Given the description of an element on the screen output the (x, y) to click on. 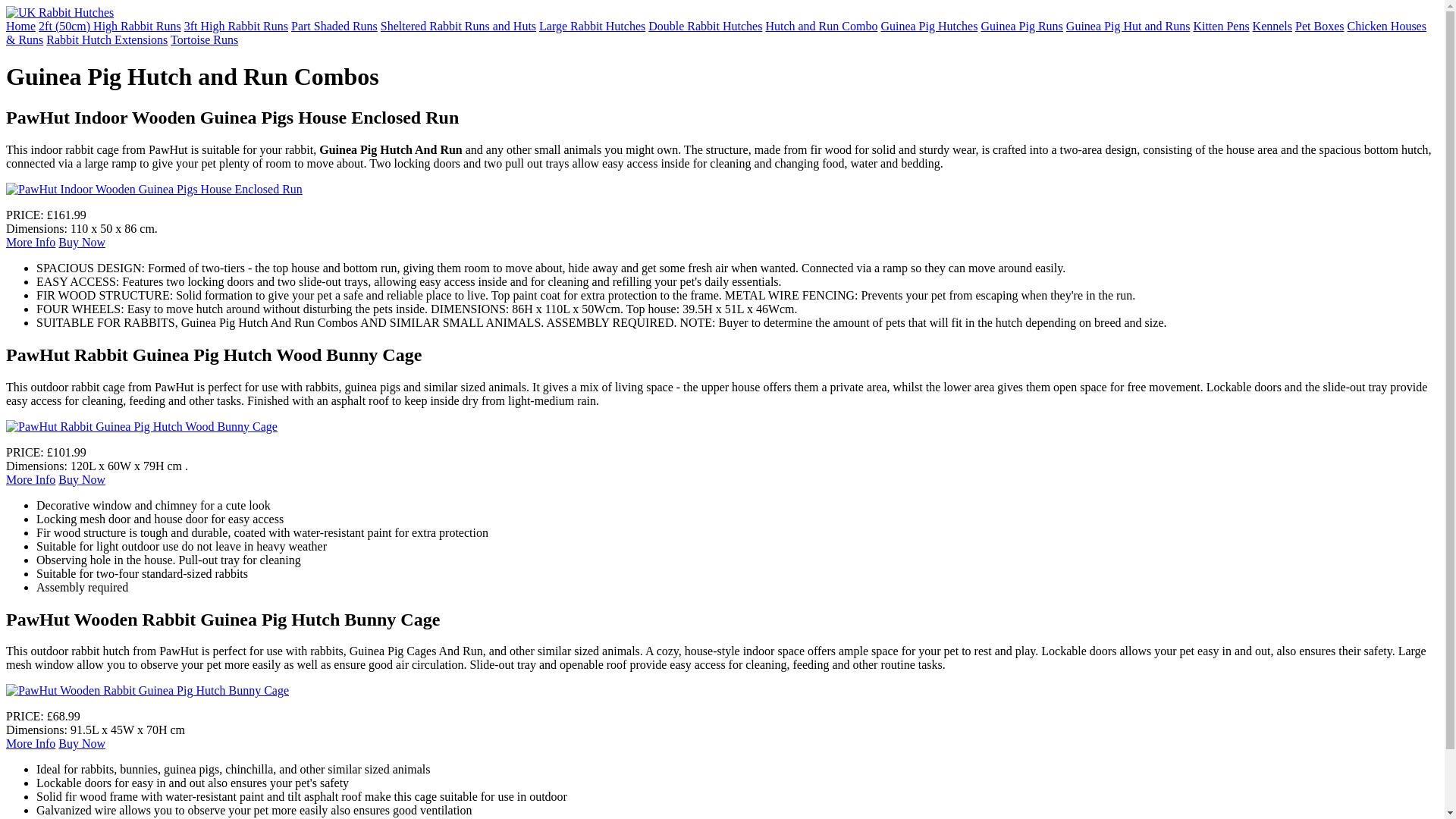
Guinea Pig Hut and Runs (1128, 25)
Part Shaded Runs (334, 25)
Large Rabbit Hutches (591, 25)
Pet Boxes (1319, 25)
Buy Now (81, 241)
More Info (30, 479)
Rabbit Hutch Extensions (106, 39)
Kennels (1272, 25)
UK Rabbit Hutches (59, 12)
Kitten Pens (1220, 25)
Guinea Pig Hutches (928, 25)
More Info (30, 241)
Tortoise Runs (204, 39)
Home (19, 25)
Buy Now (81, 743)
